Given the description of an element on the screen output the (x, y) to click on. 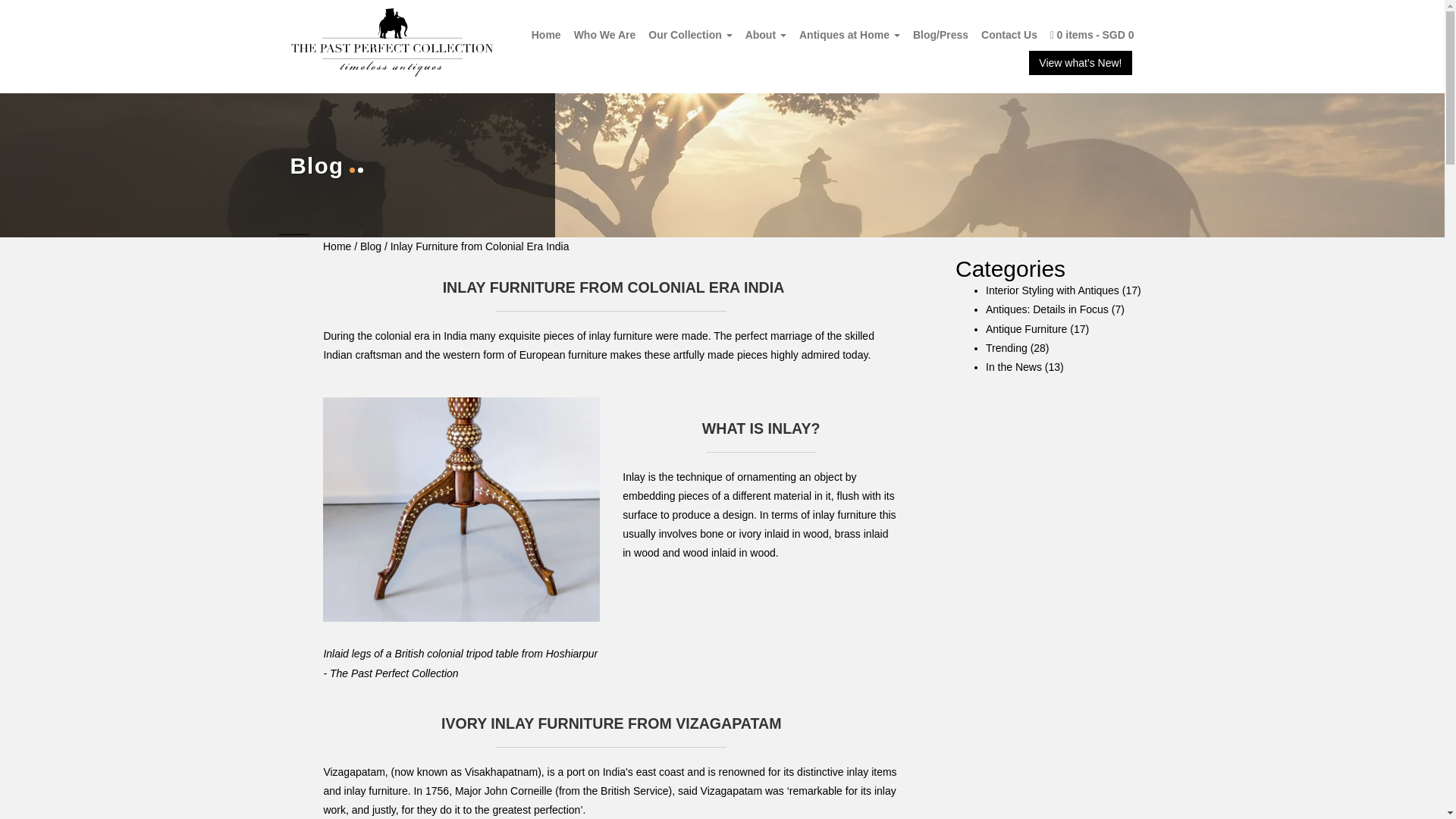
0 itemsSGD 0 (1091, 34)
Who We Are (604, 34)
Our Collection (690, 34)
Who We Are (604, 34)
Blog (371, 246)
Home (546, 34)
Home (336, 246)
Contact Us (1009, 34)
Our Collection (690, 34)
Antiques at Home (849, 34)
